Given the description of an element on the screen output the (x, y) to click on. 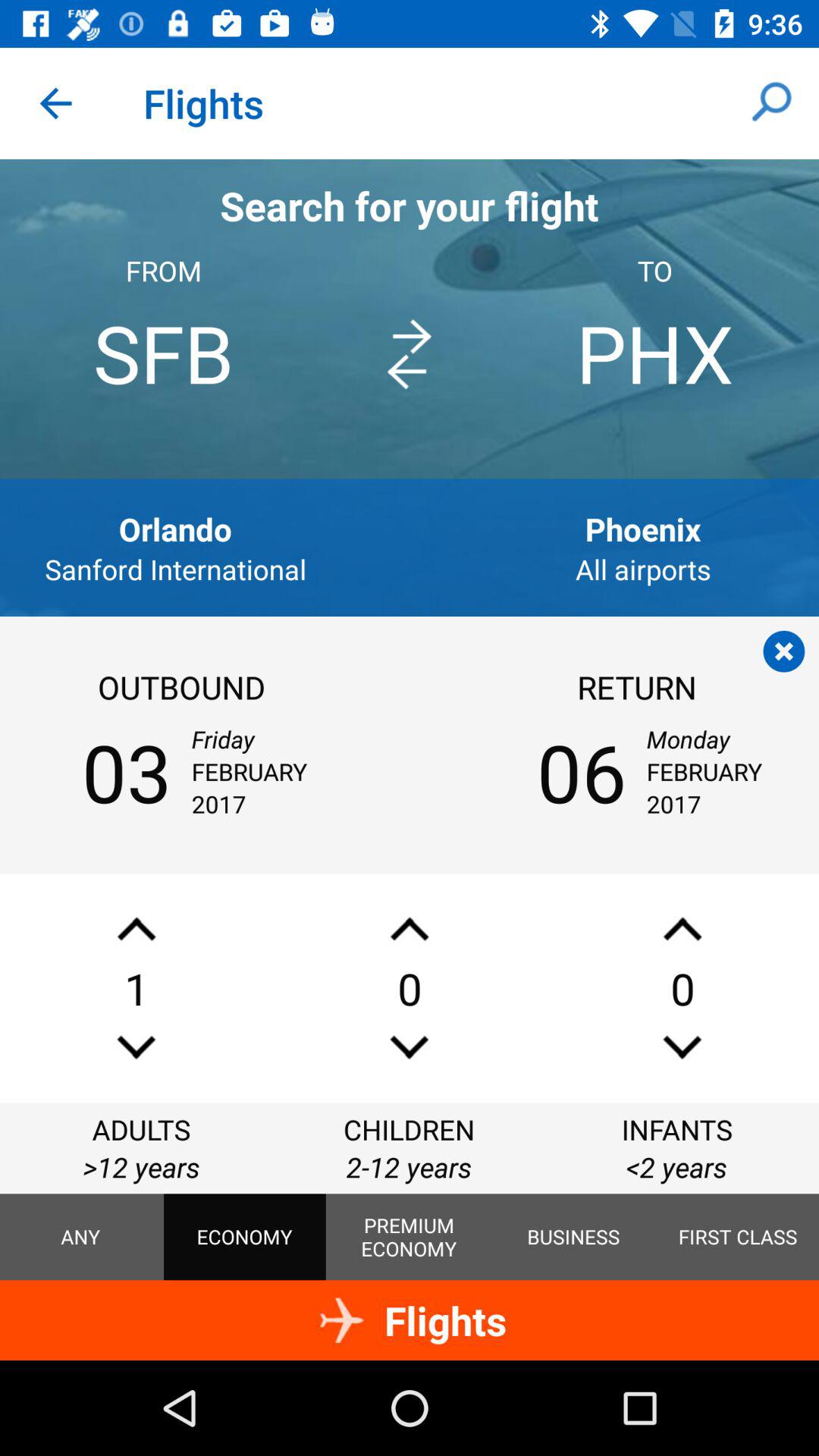
subtract children (409, 1047)
